Given the description of an element on the screen output the (x, y) to click on. 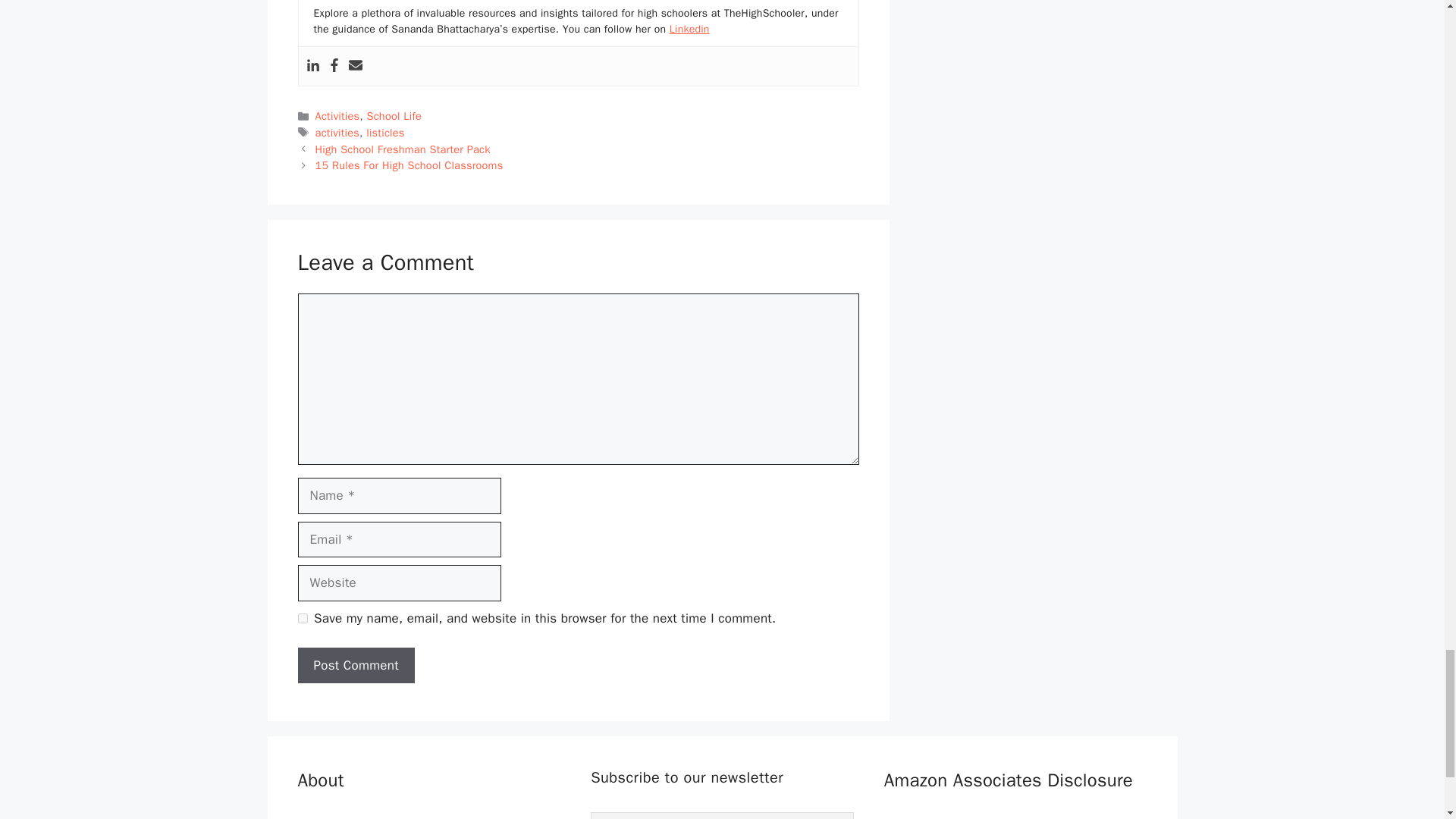
listicles (385, 132)
Activities (337, 115)
School Life (394, 115)
High School Freshman Starter Pack (402, 149)
Post Comment (355, 665)
15 Rules For High School Classrooms (409, 164)
Linkedin (689, 29)
yes (302, 618)
Post Comment (355, 665)
activities (337, 132)
